Given the description of an element on the screen output the (x, y) to click on. 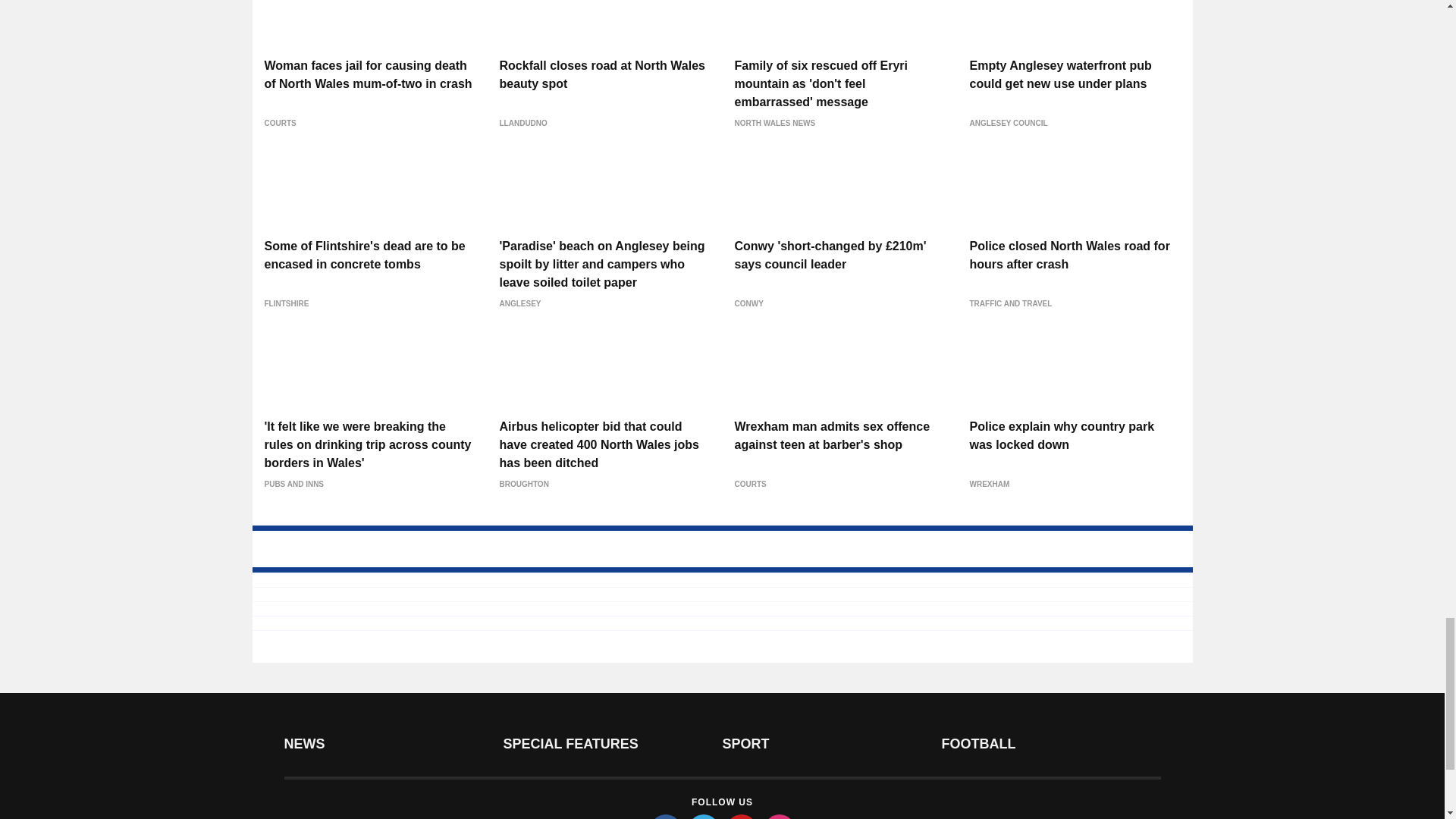
instagram (779, 816)
facebook (665, 816)
pinterest (741, 816)
twitter (703, 816)
